Given the description of an element on the screen output the (x, y) to click on. 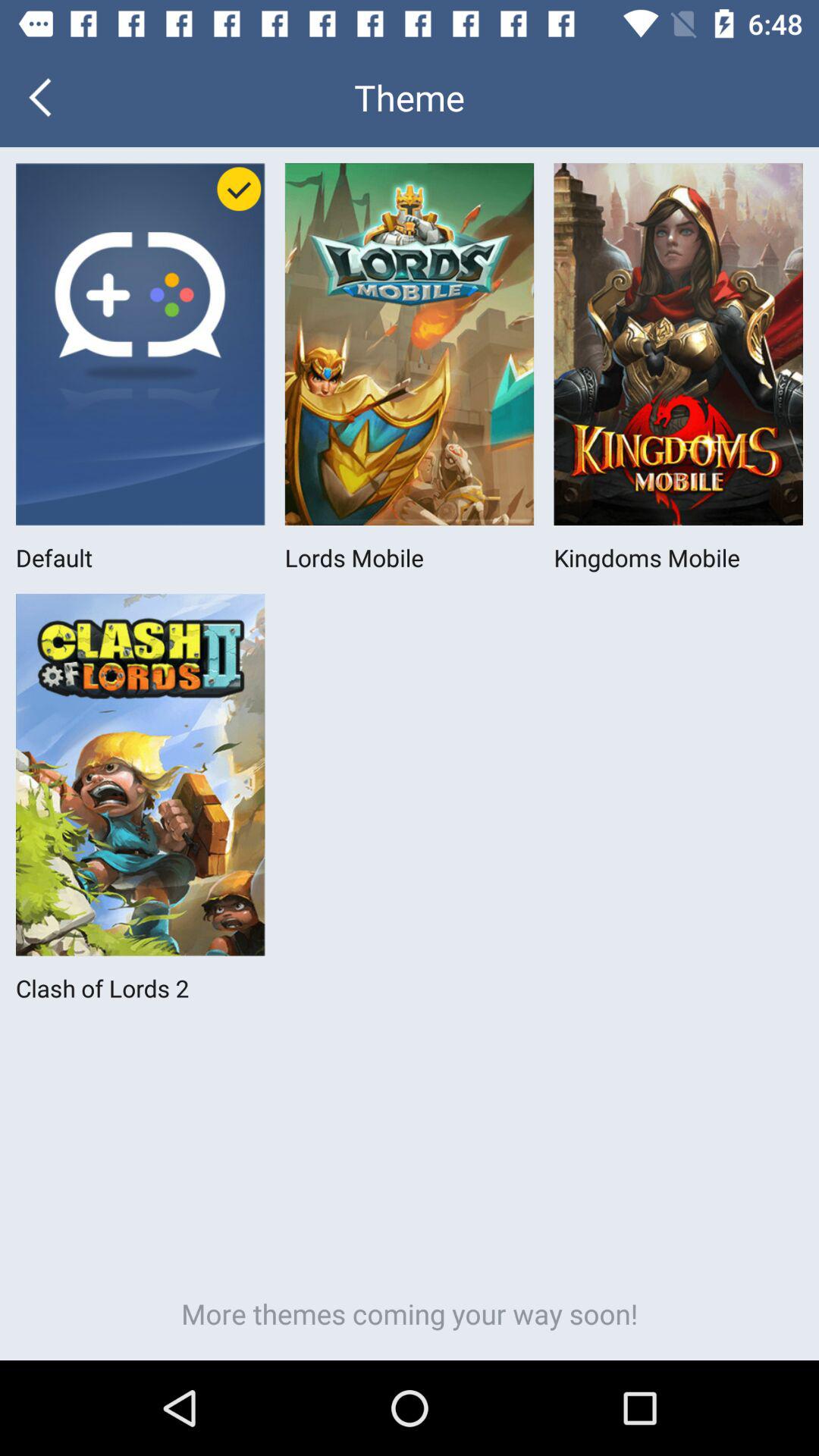
tap the theme icon (409, 97)
